Given the description of an element on the screen output the (x, y) to click on. 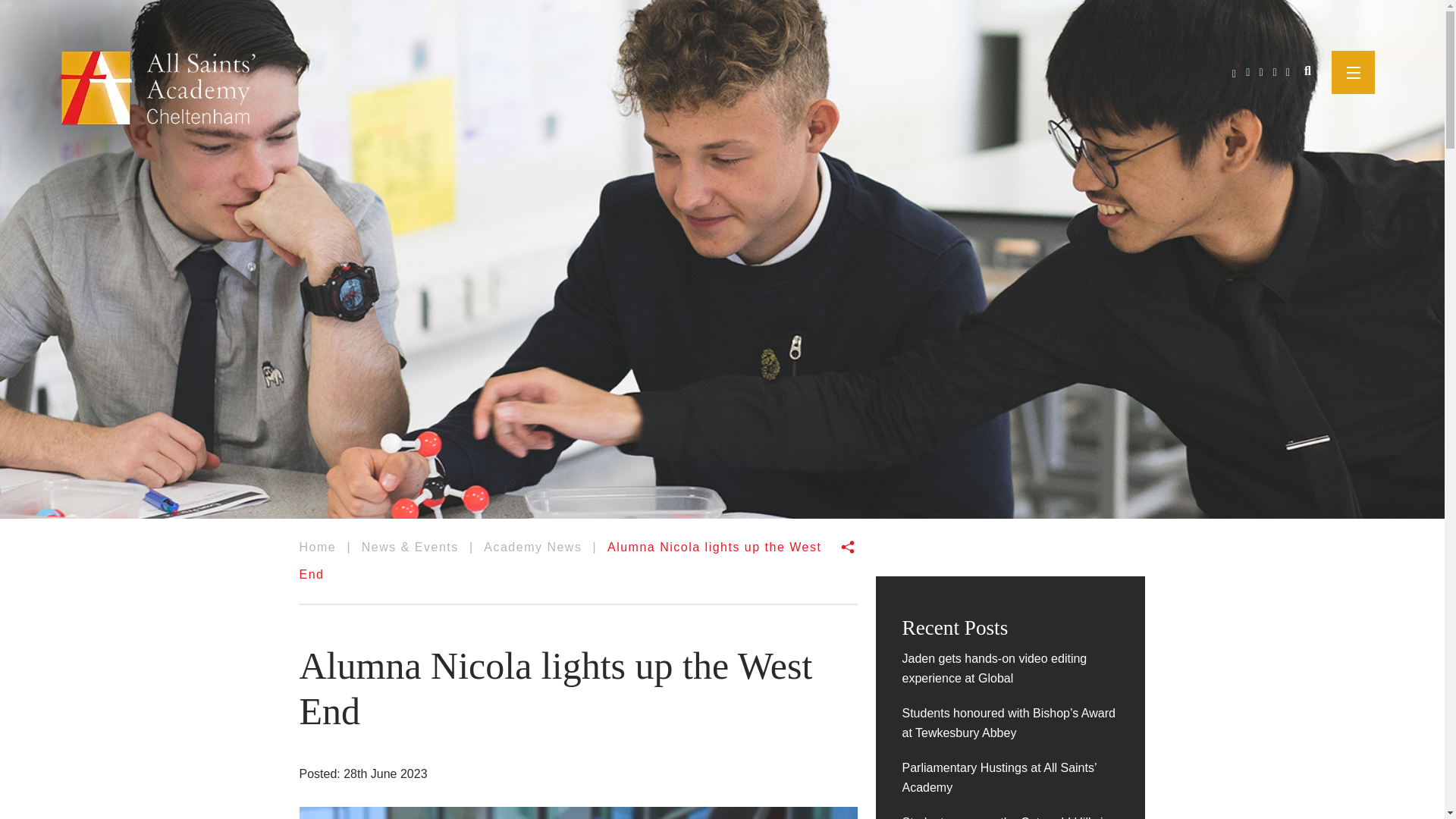
Go to Welcome to All Saints' Academy Cheltenham. (317, 546)
Search (1308, 70)
Go to the Academy News category archives. (531, 546)
